Given the description of an element on the screen output the (x, y) to click on. 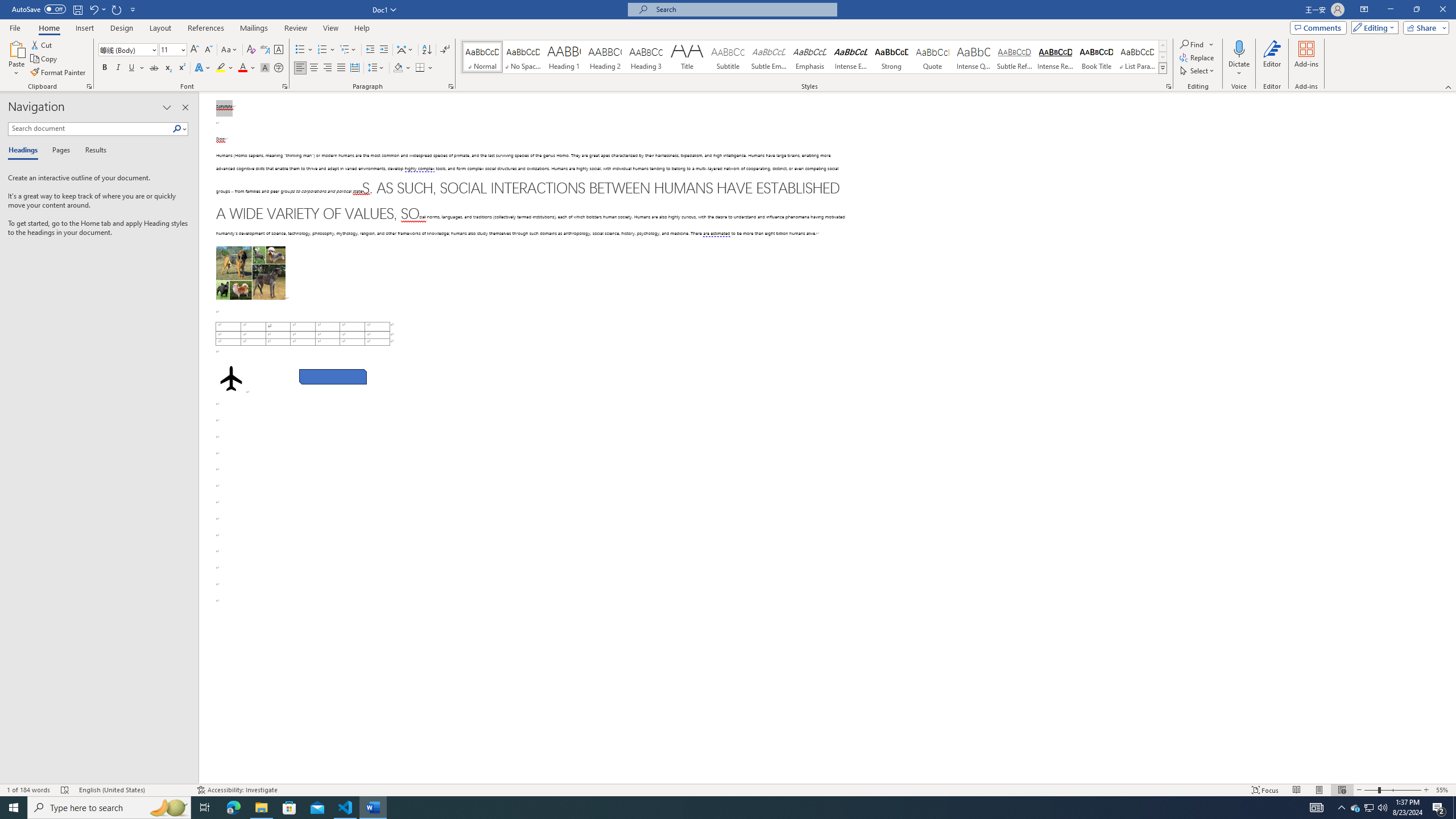
References (205, 28)
Results (91, 150)
Multilevel List (347, 49)
Heading 1 (564, 56)
Show/Hide Editing Marks (444, 49)
Subtle Reference (1014, 56)
Title (686, 56)
Dictate (1238, 58)
Font Color Red (241, 67)
Borders (424, 67)
Text Highlight Color Yellow (220, 67)
Underline (136, 67)
Text Effects and Typography (202, 67)
Customize Quick Access Toolbar (133, 9)
Focus  (1265, 790)
